Given the description of an element on the screen output the (x, y) to click on. 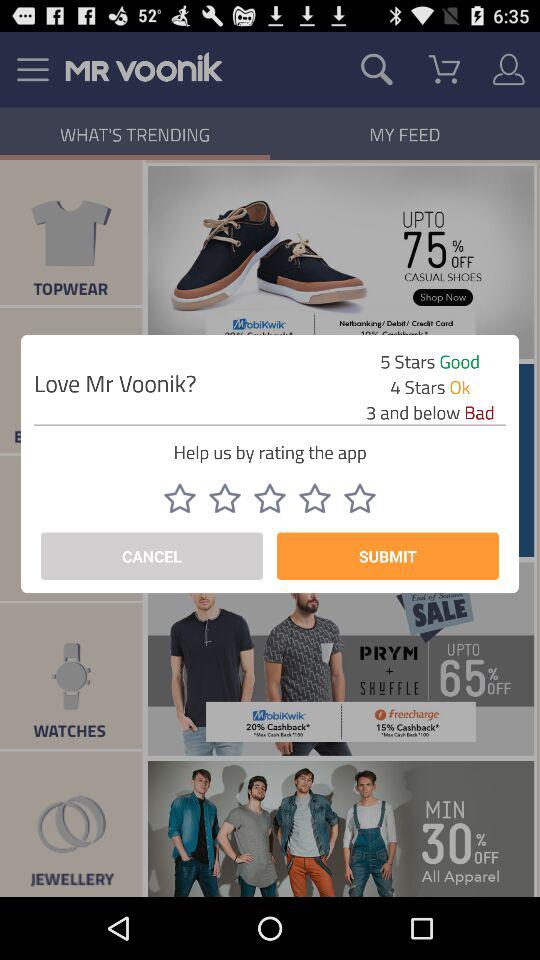
rate 3 stars (270, 498)
